Given the description of an element on the screen output the (x, y) to click on. 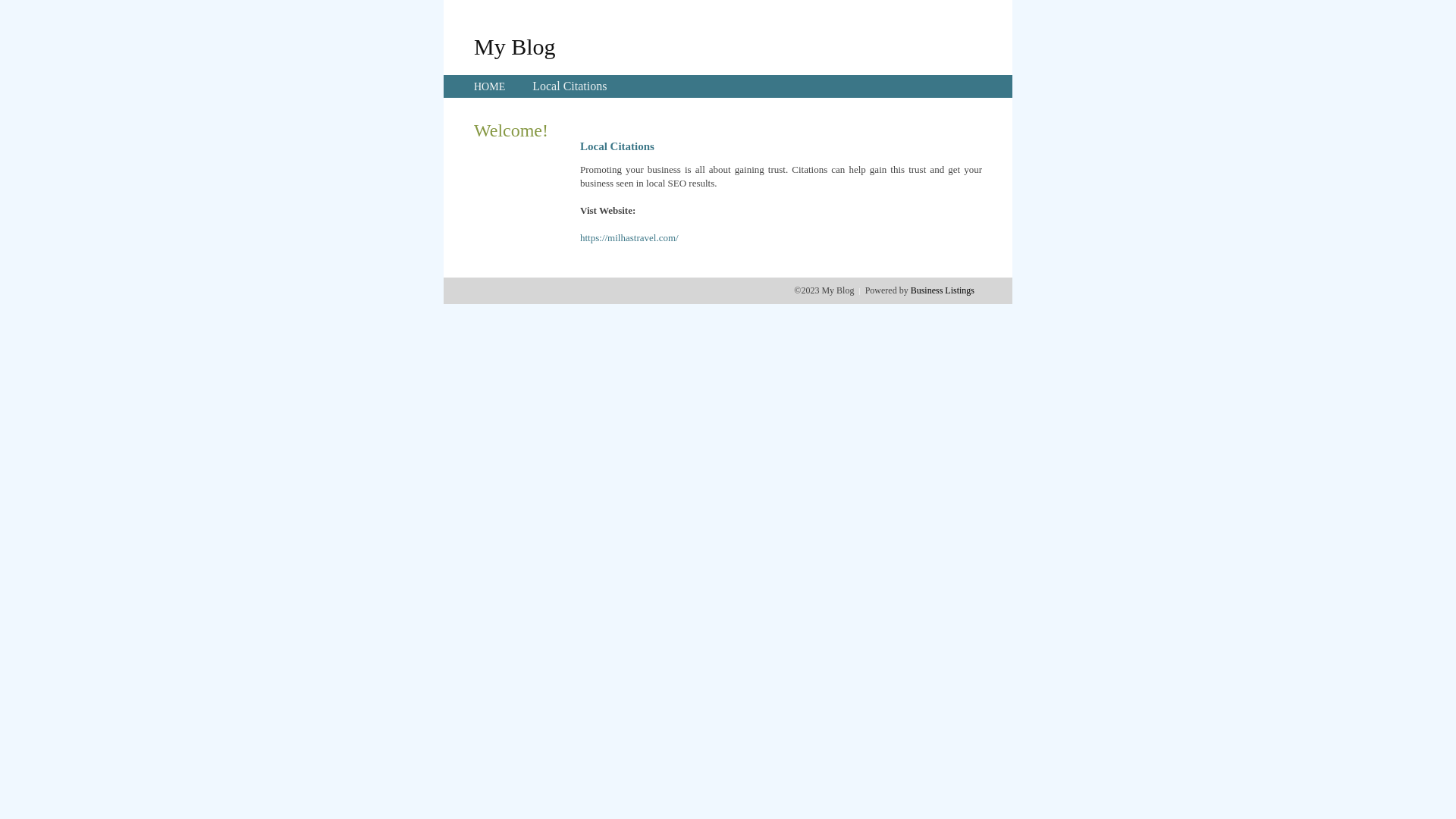
Business Listings Element type: text (942, 290)
Local Citations Element type: text (569, 85)
https://milhastravel.com/ Element type: text (629, 237)
HOME Element type: text (489, 86)
My Blog Element type: text (514, 46)
